Given the description of an element on the screen output the (x, y) to click on. 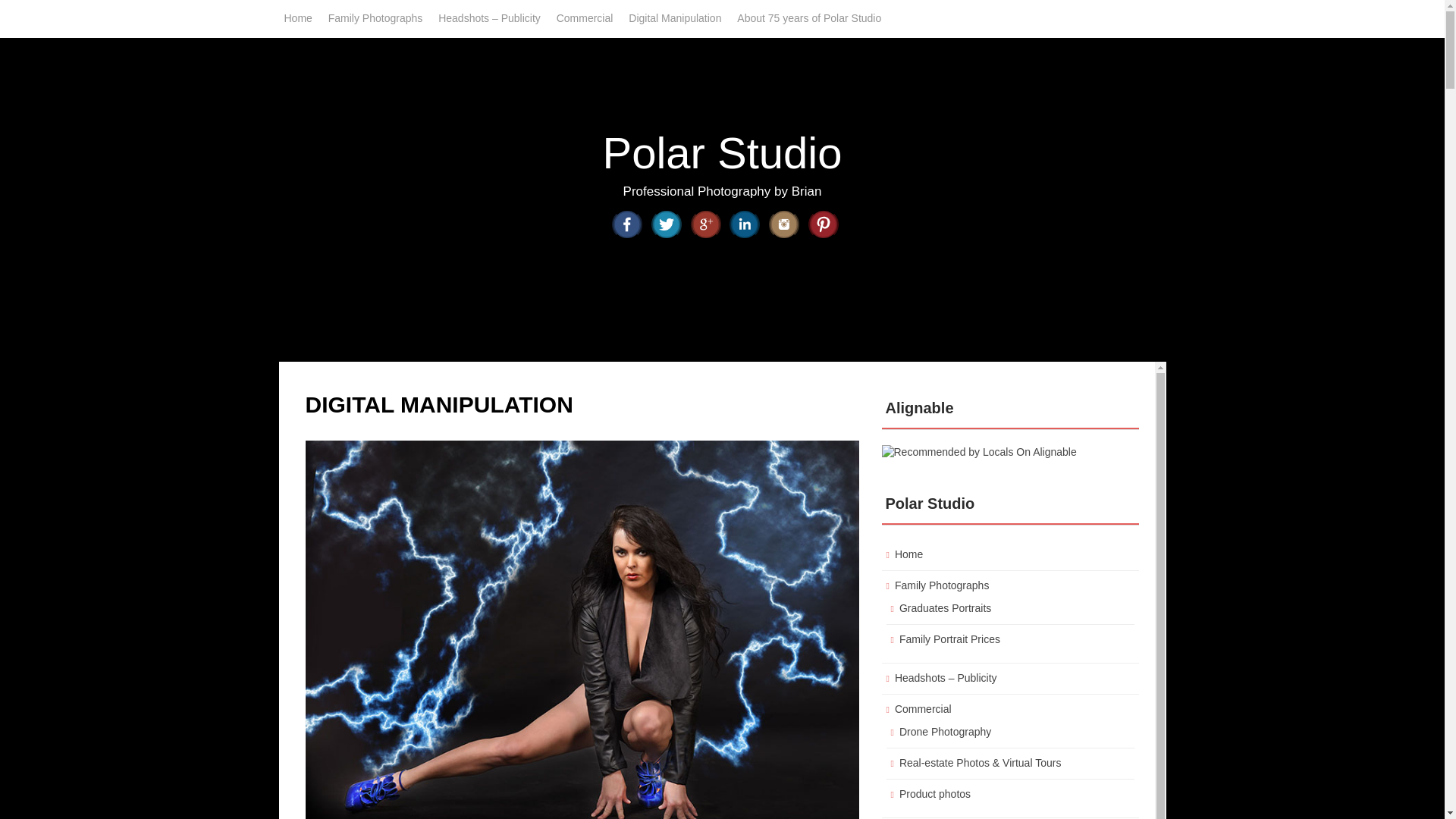
Polar Studio (721, 152)
Home (297, 18)
Family Photographs (375, 18)
Digital Manipulation (675, 18)
Commercial Photography (584, 18)
Polar Studio at a glance (808, 18)
Commercial (584, 18)
About 75 years of Polar Studio (808, 18)
